Given the description of an element on the screen output the (x, y) to click on. 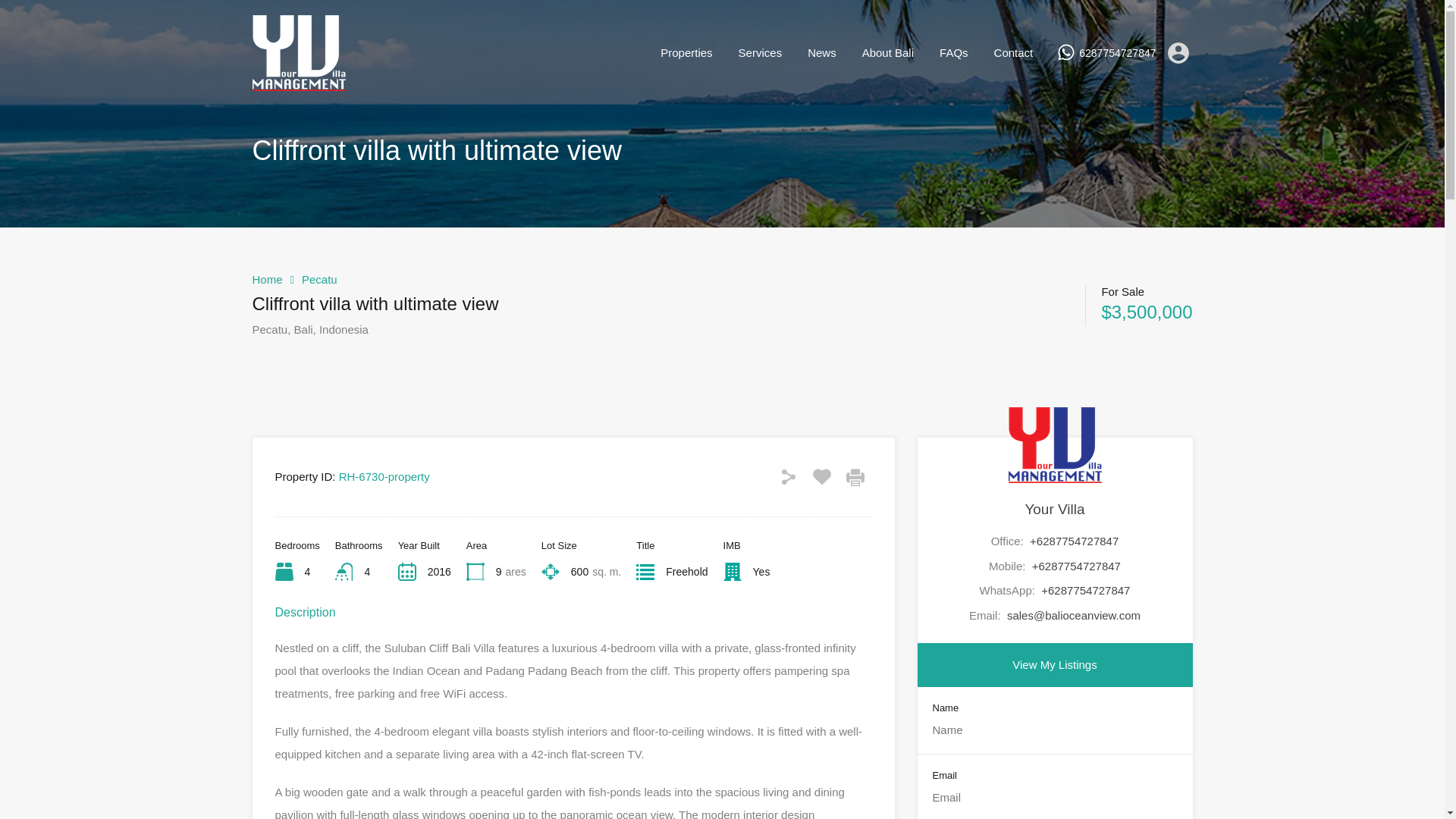
Pecatu (319, 279)
About Bali (887, 53)
Properties (686, 53)
Contact (1013, 53)
Bali ocean view property (298, 83)
Home (266, 279)
Services (759, 53)
6287754727847 (1117, 52)
News (821, 53)
FAQs (953, 53)
